Given the description of an element on the screen output the (x, y) to click on. 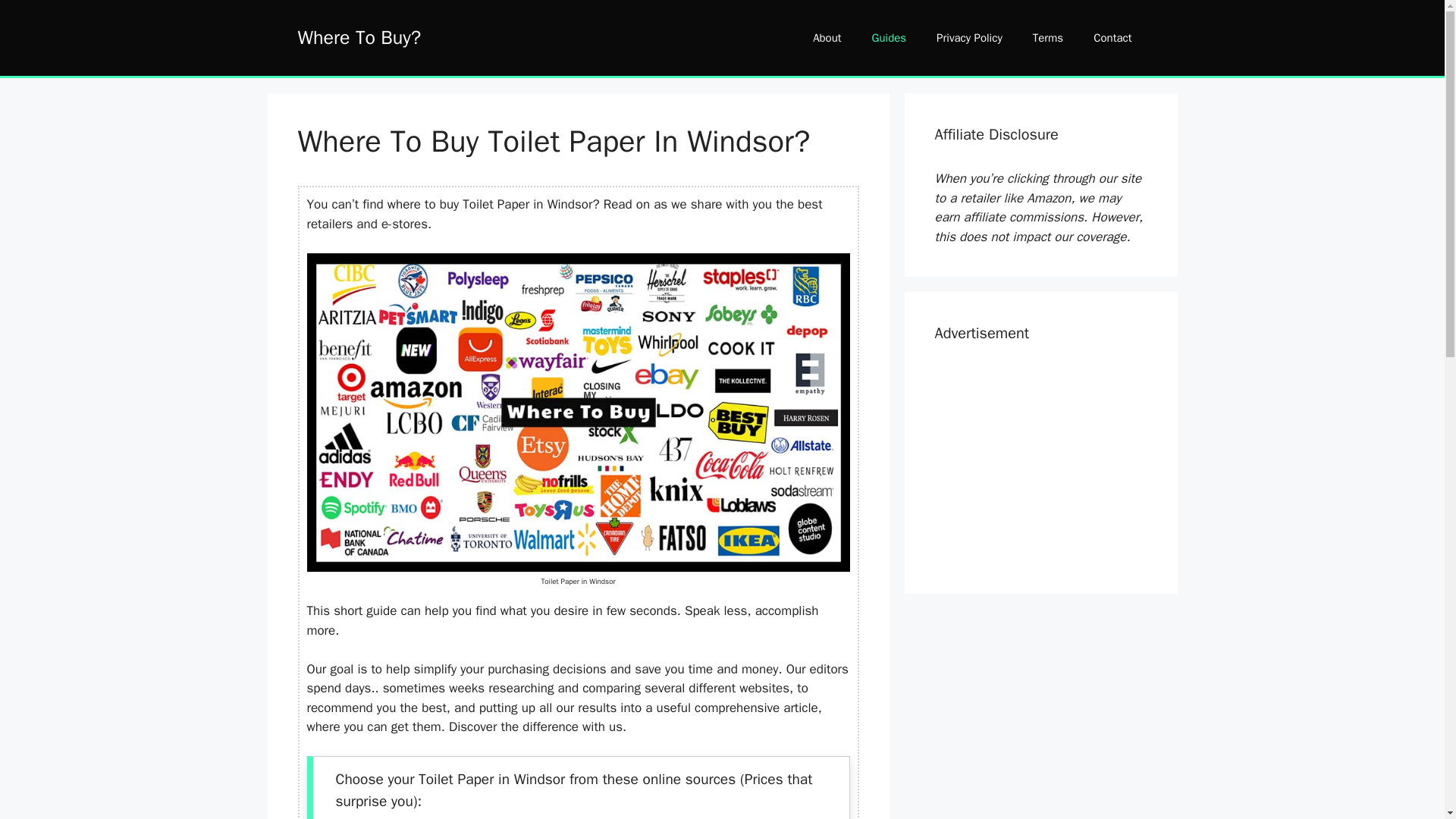
Where To Buy? (358, 37)
Guides (889, 37)
Terms (1047, 37)
About (826, 37)
Contact (1112, 37)
Privacy Policy (969, 37)
